Given the description of an element on the screen output the (x, y) to click on. 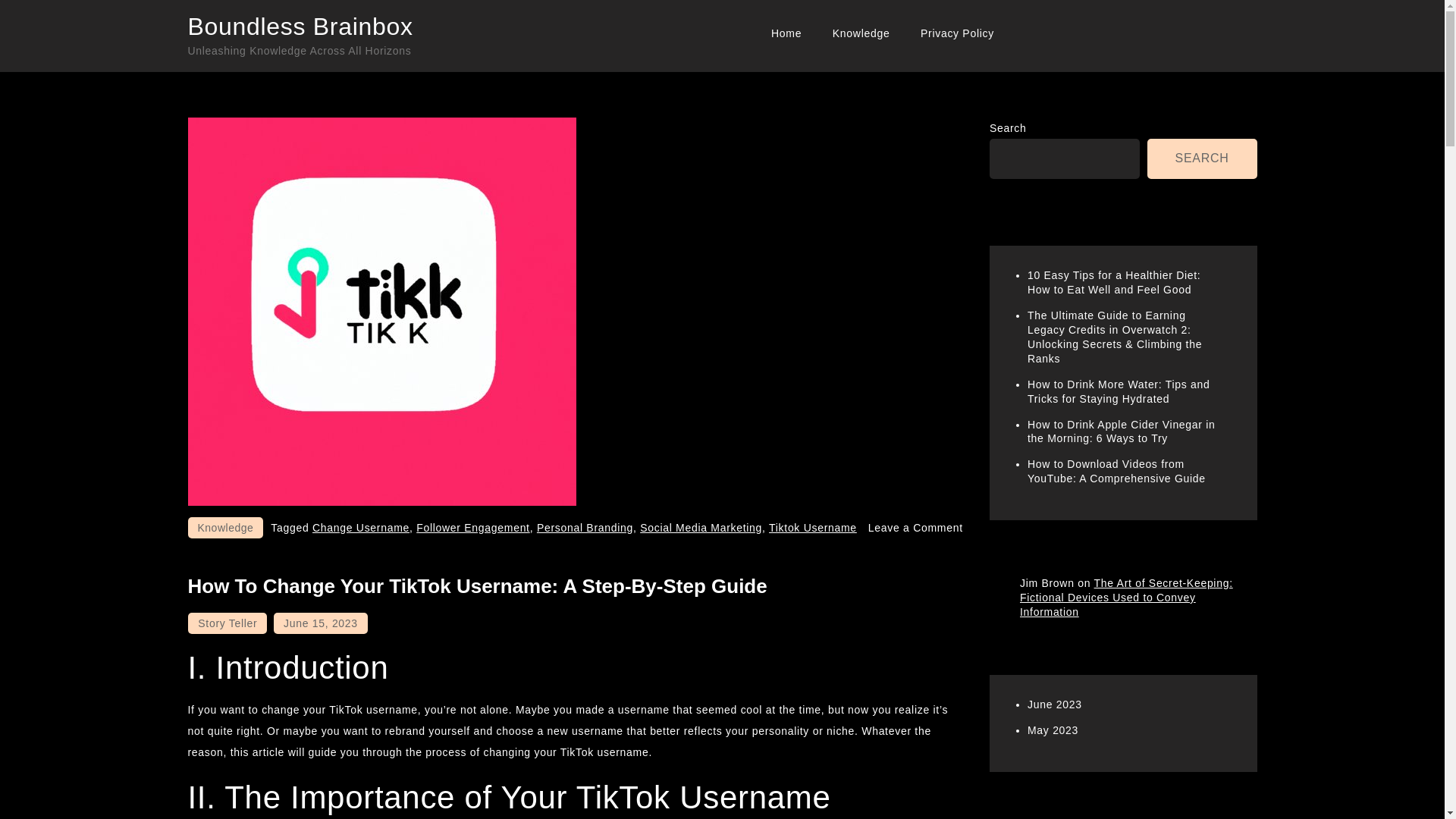
Privacy Policy (957, 33)
SEARCH (1202, 158)
Tiktok Username (812, 527)
Follower Engagement (472, 527)
Social Media Marketing (700, 527)
Personal Branding (585, 527)
Change Username (361, 527)
June 15, 2023 (320, 622)
Home (786, 33)
Knowledge (225, 527)
Knowledge (861, 33)
